Given the description of an element on the screen output the (x, y) to click on. 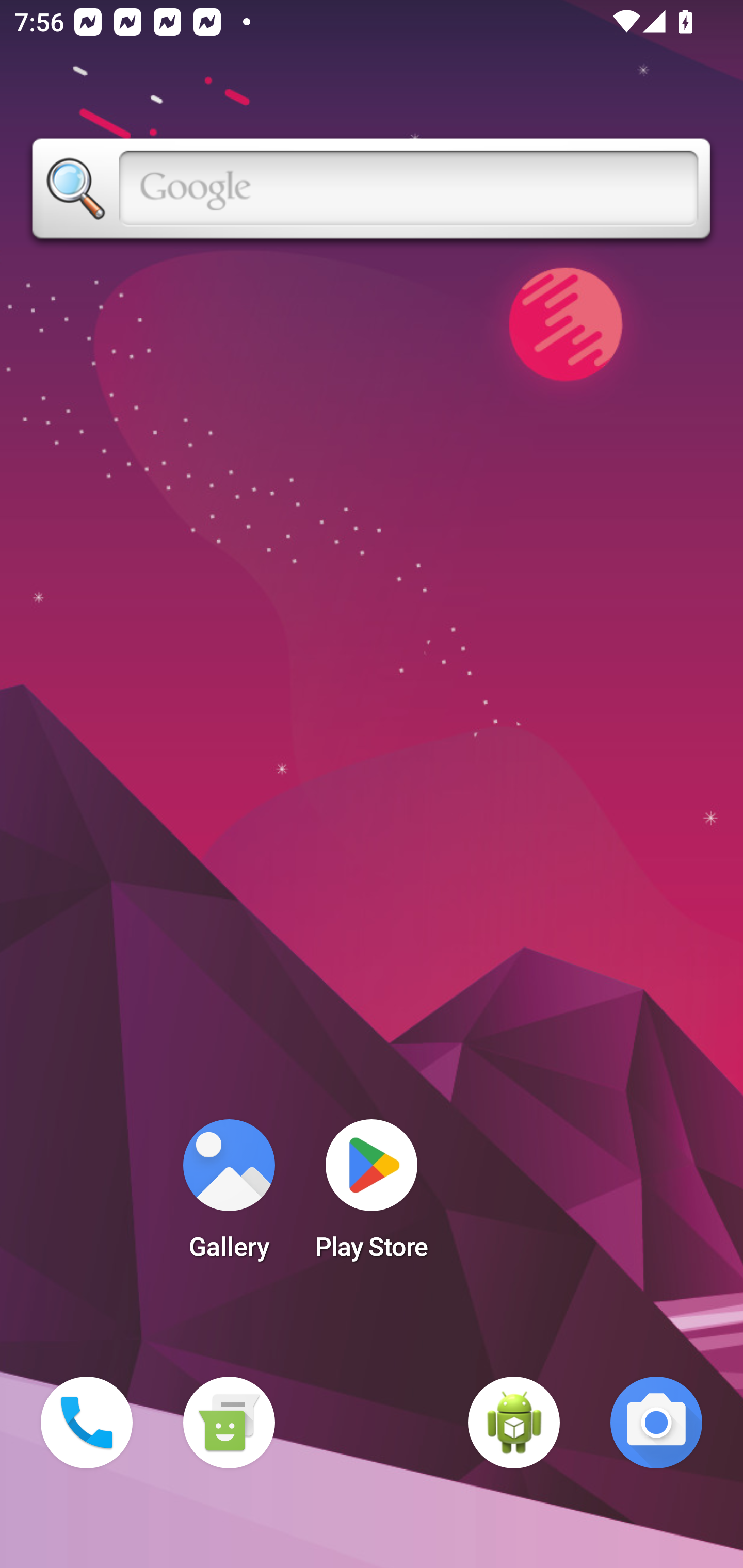
Gallery (228, 1195)
Play Store (371, 1195)
Phone (86, 1422)
Messaging (228, 1422)
WebView Browser Tester (513, 1422)
Camera (656, 1422)
